Given the description of an element on the screen output the (x, y) to click on. 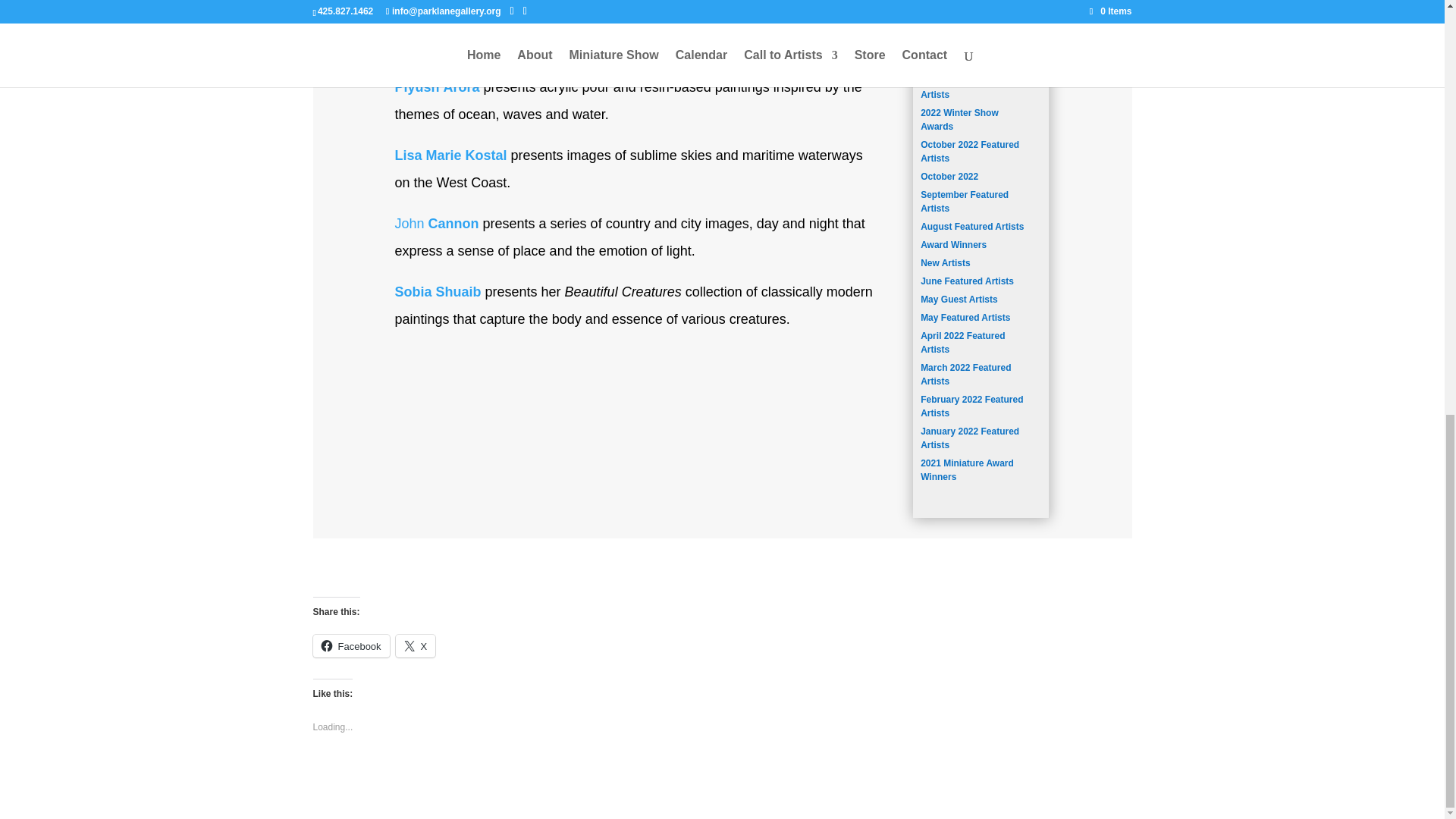
New Artists (945, 262)
June Featured Artists (966, 281)
May Featured Artists (965, 317)
Award Winners (953, 244)
2022 Winter Show Awards (959, 119)
John Cannon (436, 223)
Sobia Shuaib (437, 291)
September Featured Artists (964, 201)
Click to share on X (415, 645)
Piyush Arora (436, 87)
Lisa Marie Kostal (450, 155)
October 2022 (949, 176)
August Featured Artists (971, 226)
Click to share on Facebook (350, 645)
January 2023 Featured Artists (969, 87)
